Given the description of an element on the screen output the (x, y) to click on. 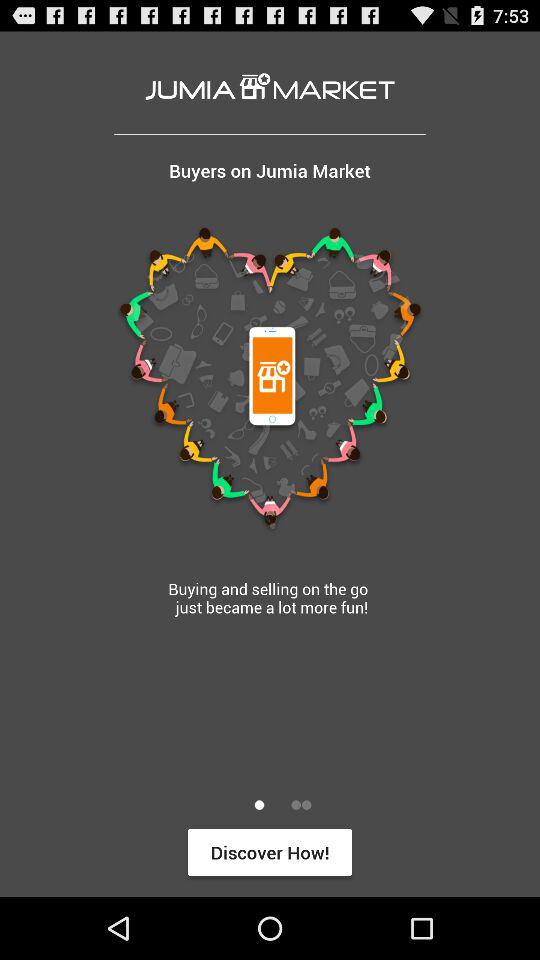
turn on the discover how! icon (269, 852)
